Given the description of an element on the screen output the (x, y) to click on. 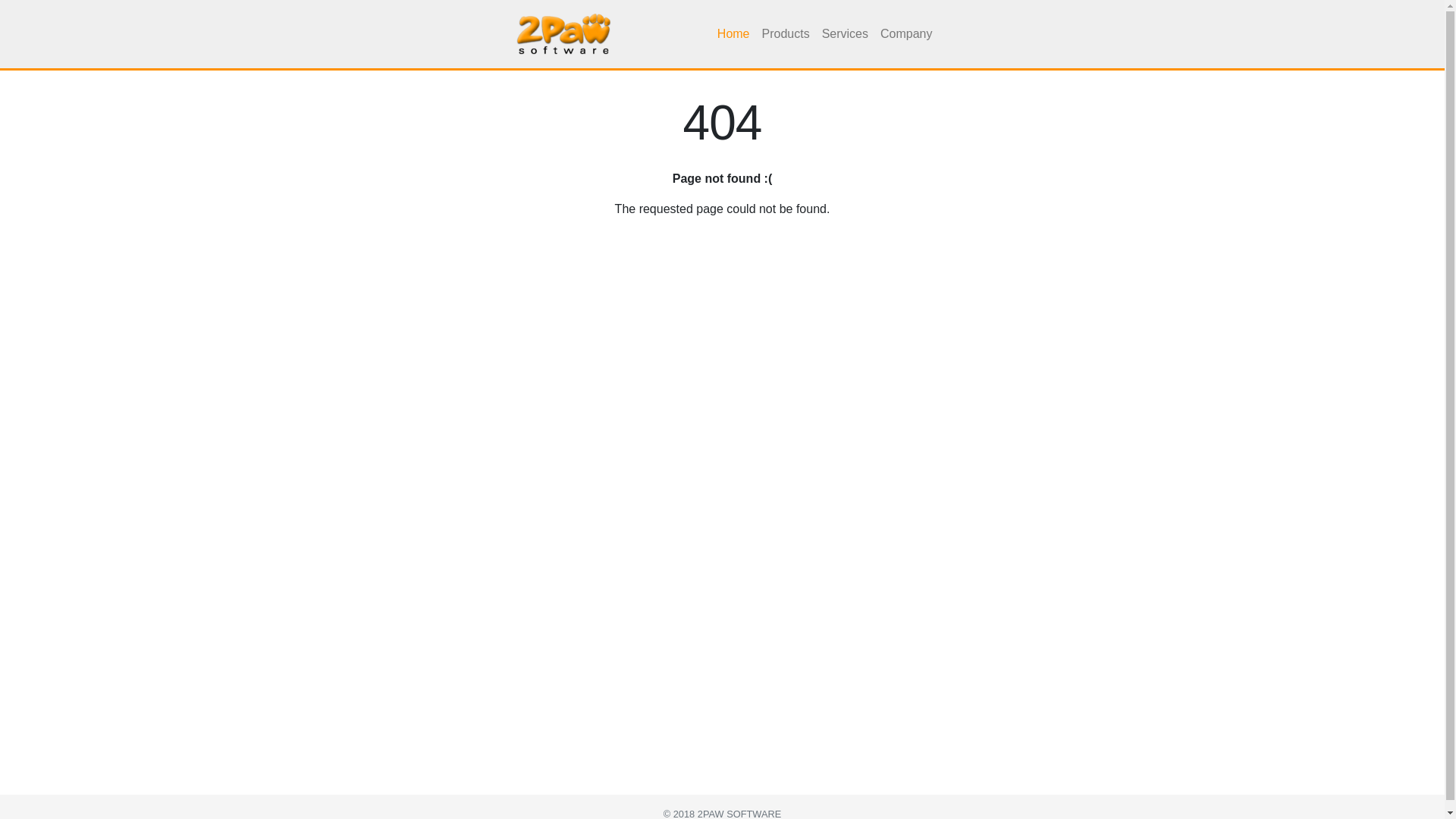
Services Element type: text (844, 33)
Home Element type: text (733, 33)
Company Element type: text (906, 33)
Products Element type: text (785, 33)
